Given the description of an element on the screen output the (x, y) to click on. 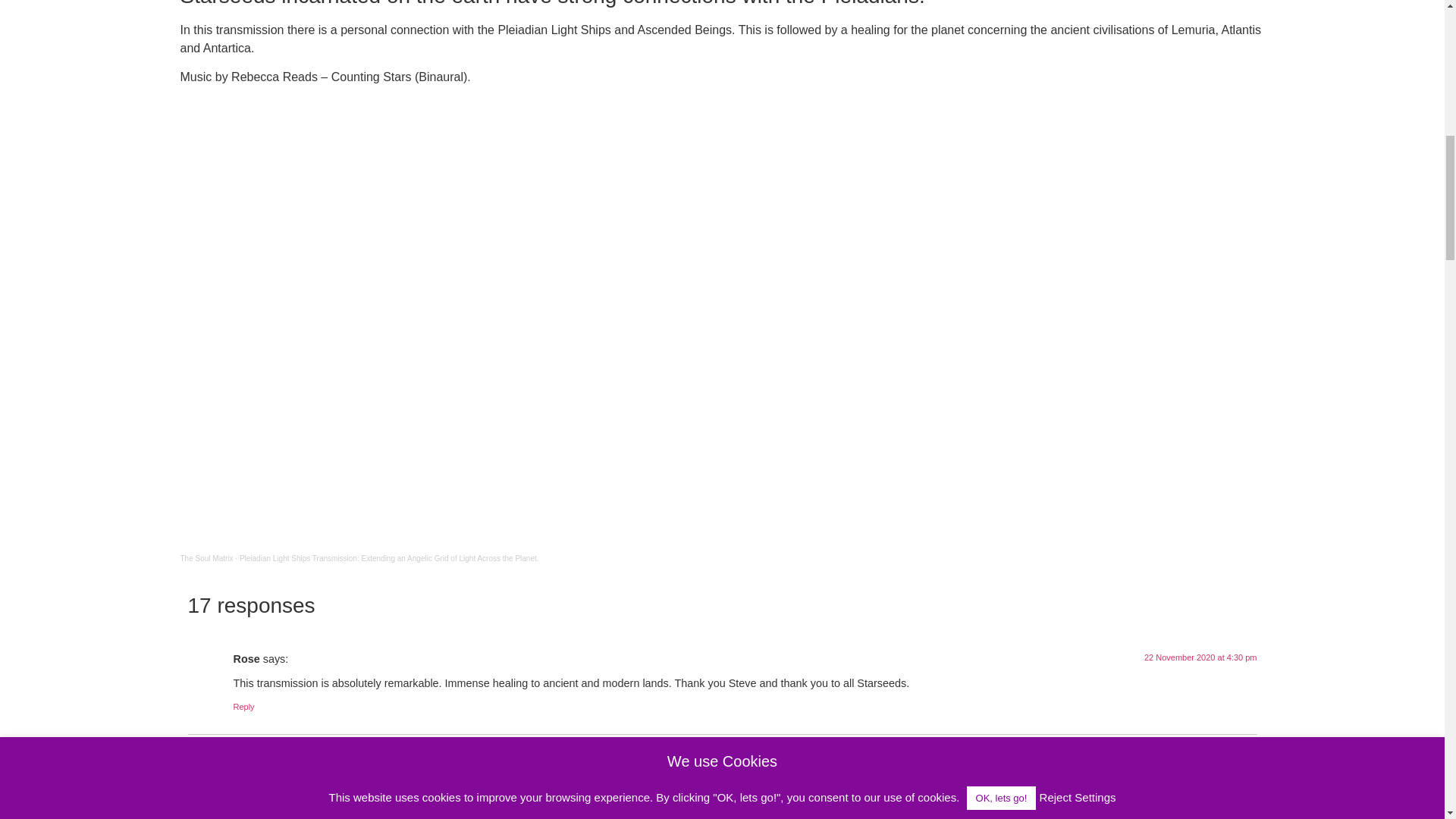
The Soul Matrix (206, 558)
